Given the description of an element on the screen output the (x, y) to click on. 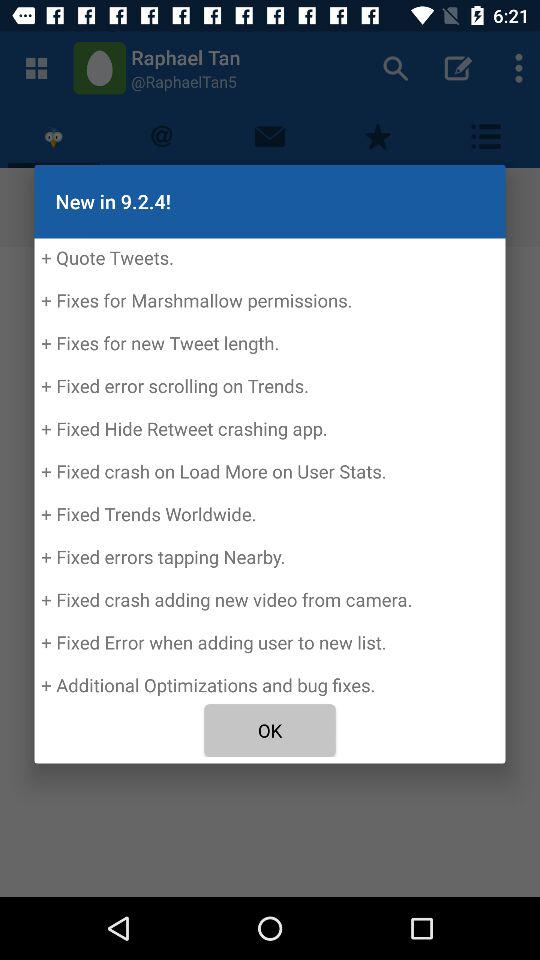
select the icon below the quote tweets fixes icon (269, 730)
